Given the description of an element on the screen output the (x, y) to click on. 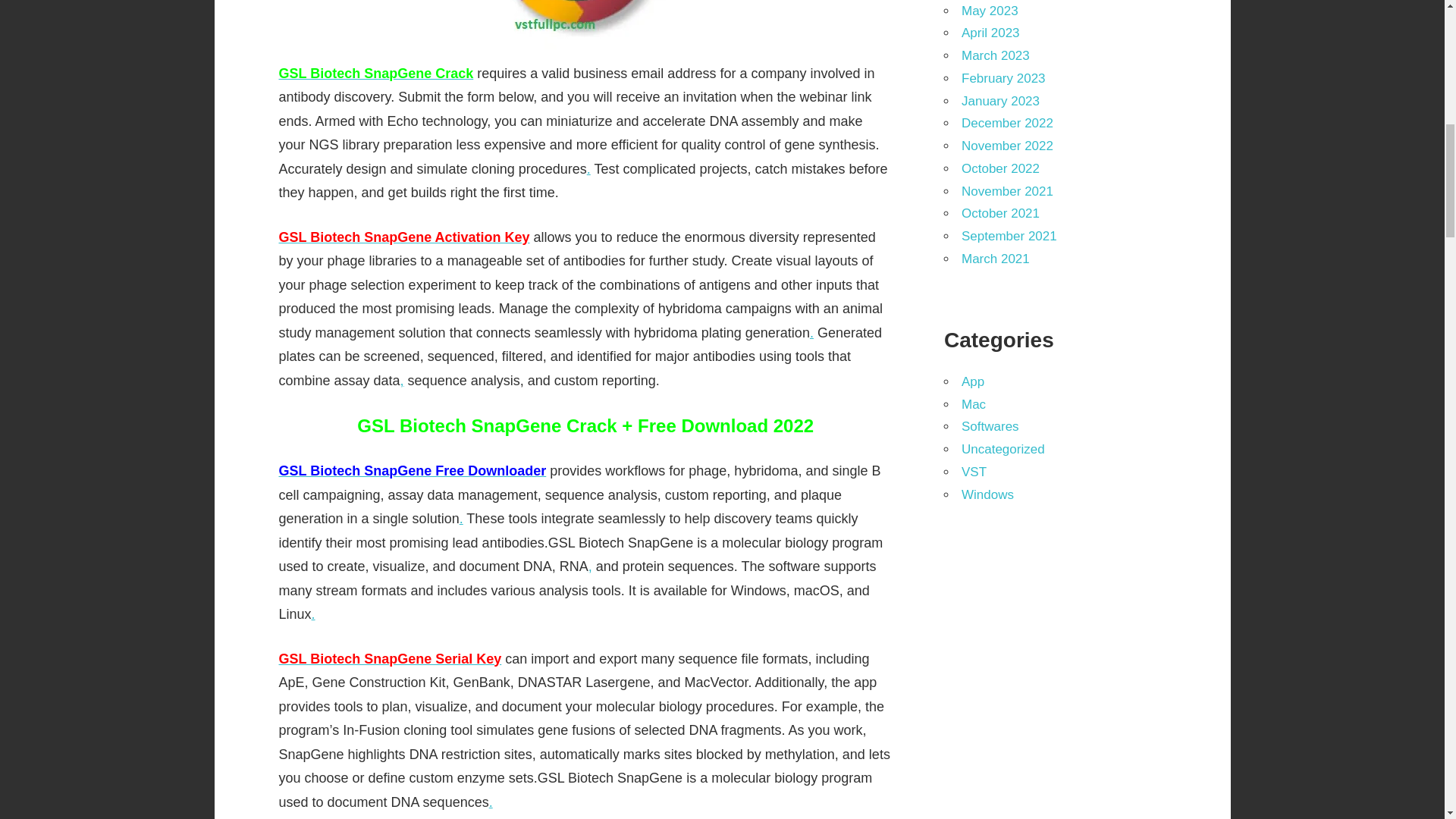
GSL Biotech SnapGene Activation Key (404, 237)
GSL Biotech SnapGene Free Downloader (413, 470)
GSL Biotech SnapGene Crack (376, 73)
GSL Biotech SnapGene Serial Key (390, 658)
